Given the description of an element on the screen output the (x, y) to click on. 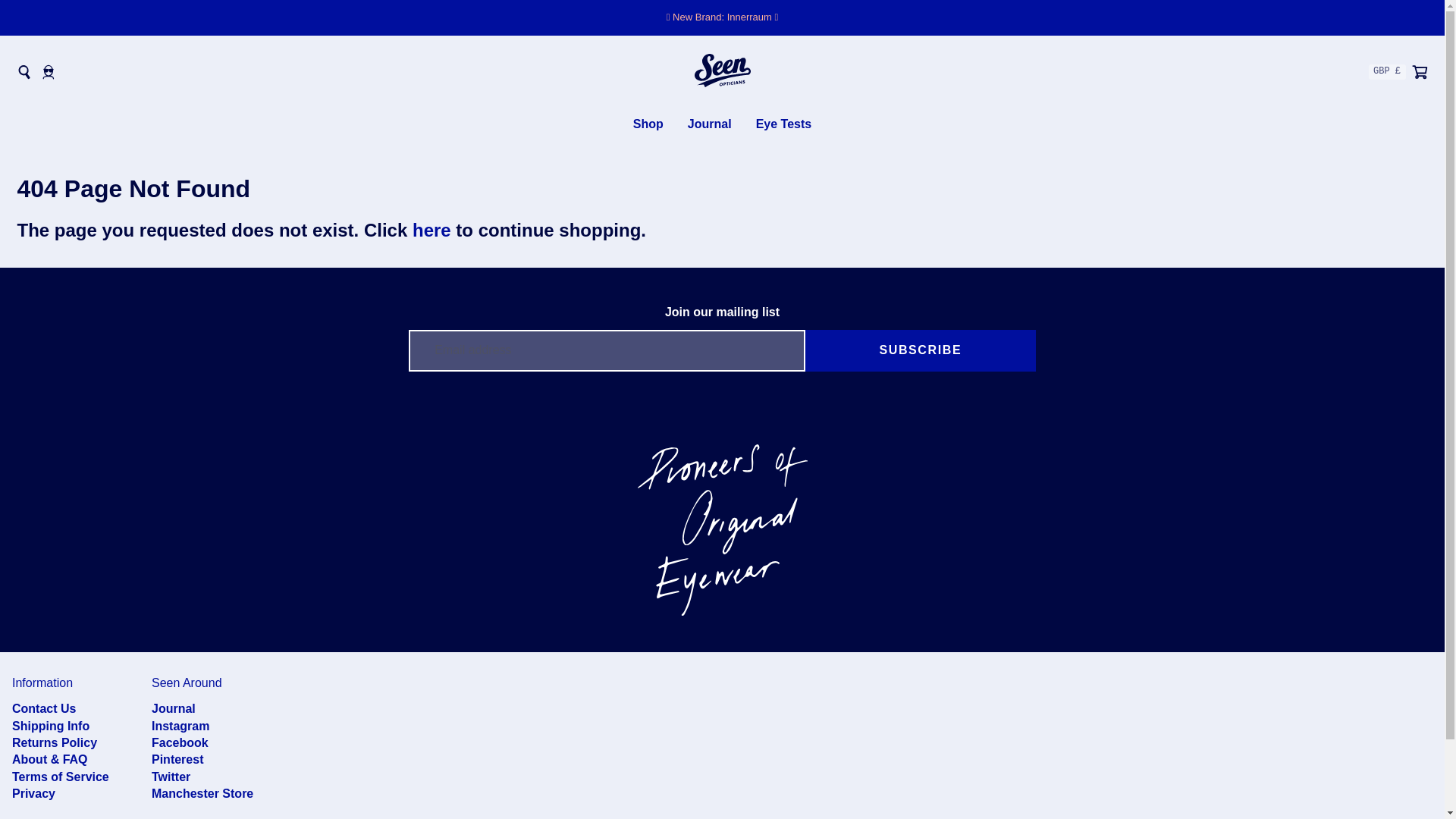
Eye Tests (783, 123)
SUBSCRIBE (920, 350)
Seen Opticians (722, 72)
Shop (648, 123)
Cart (1419, 71)
Journal (709, 123)
here (431, 230)
Information (41, 682)
